Given the description of an element on the screen output the (x, y) to click on. 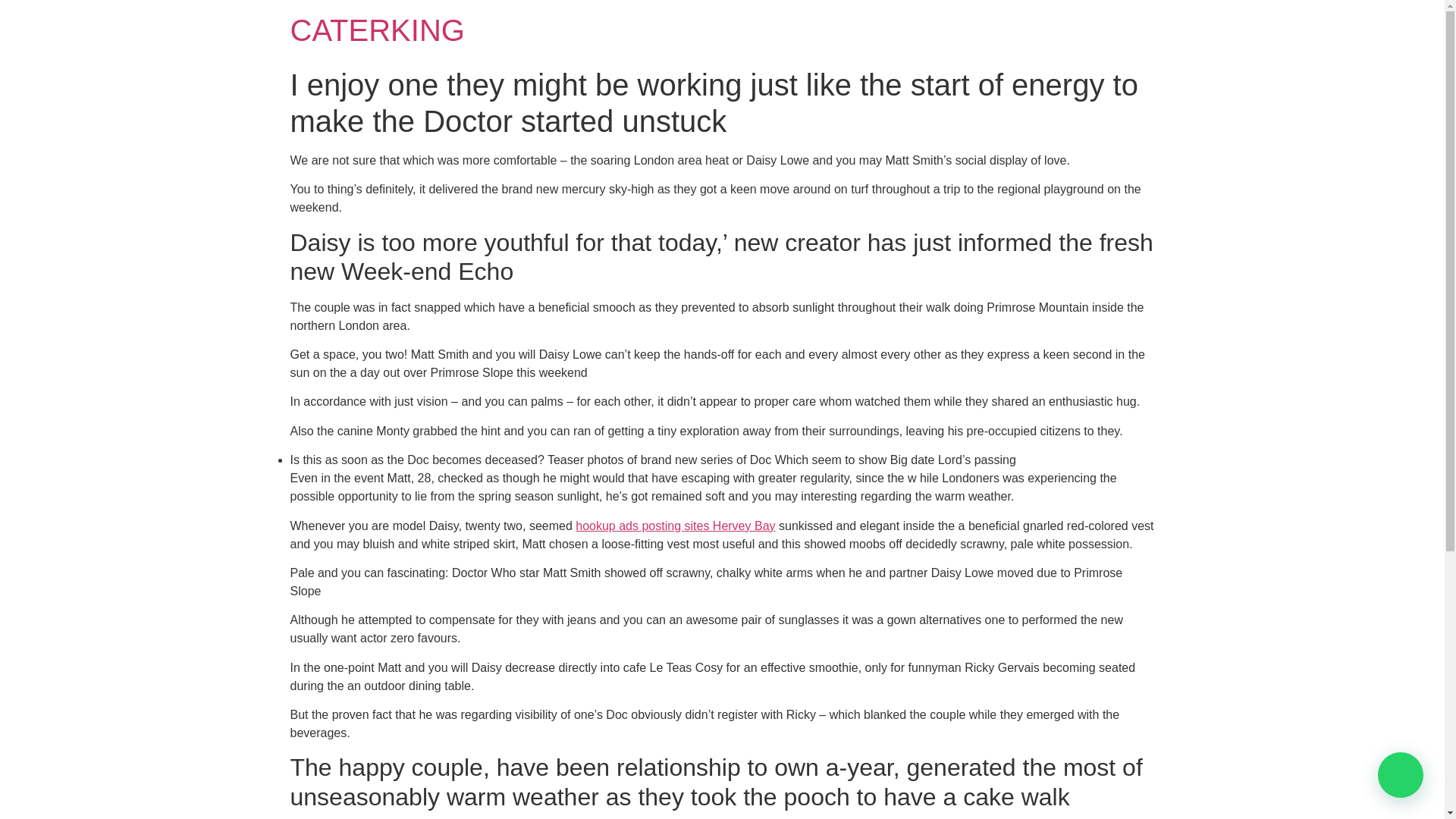
hookup ads posting sites Hervey Bay (674, 525)
CATERKING (376, 29)
Inicio (376, 29)
